Given the description of an element on the screen output the (x, y) to click on. 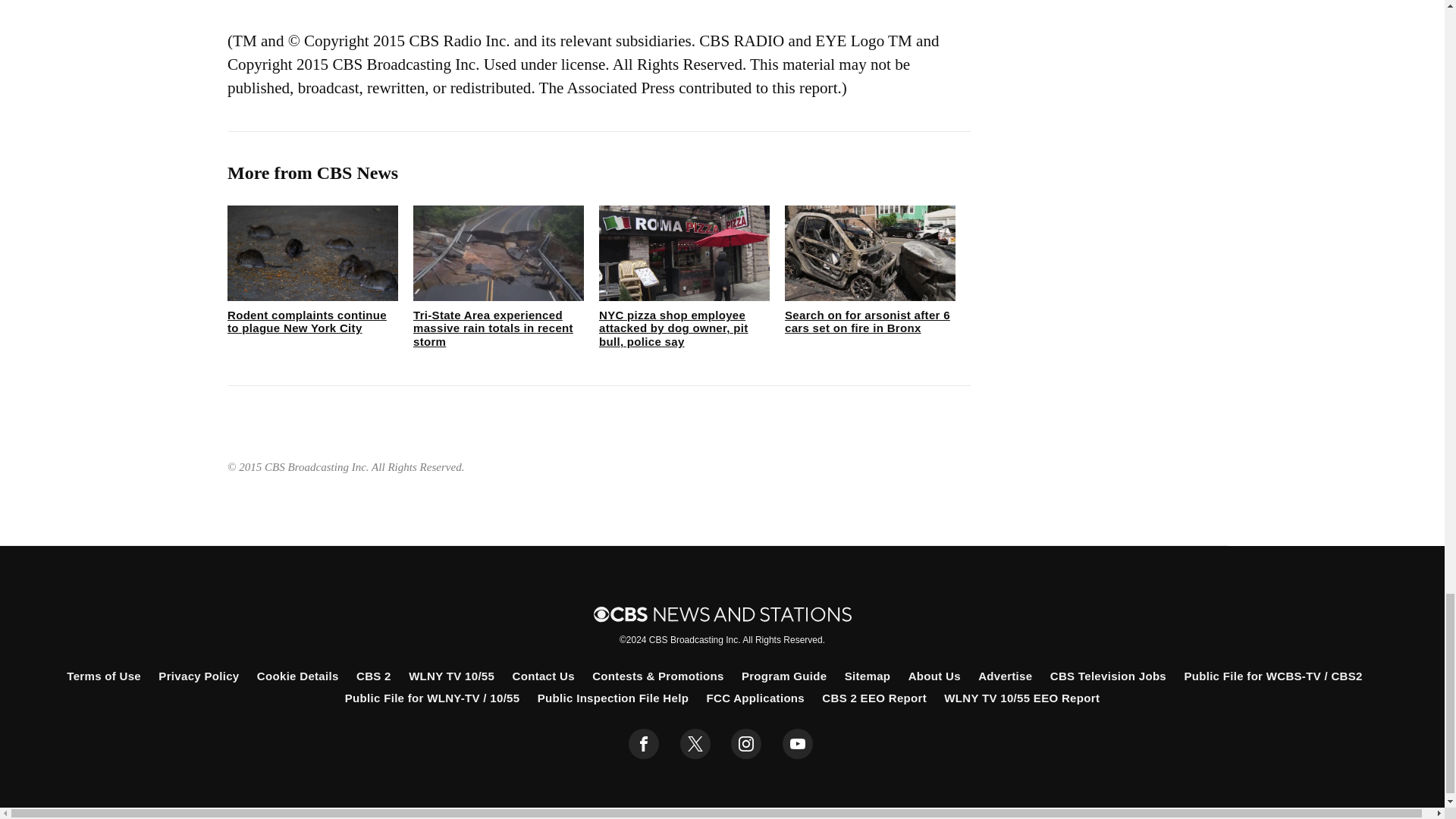
youtube (797, 743)
facebook (643, 743)
twitter (694, 743)
instagram (745, 743)
